Given the description of an element on the screen output the (x, y) to click on. 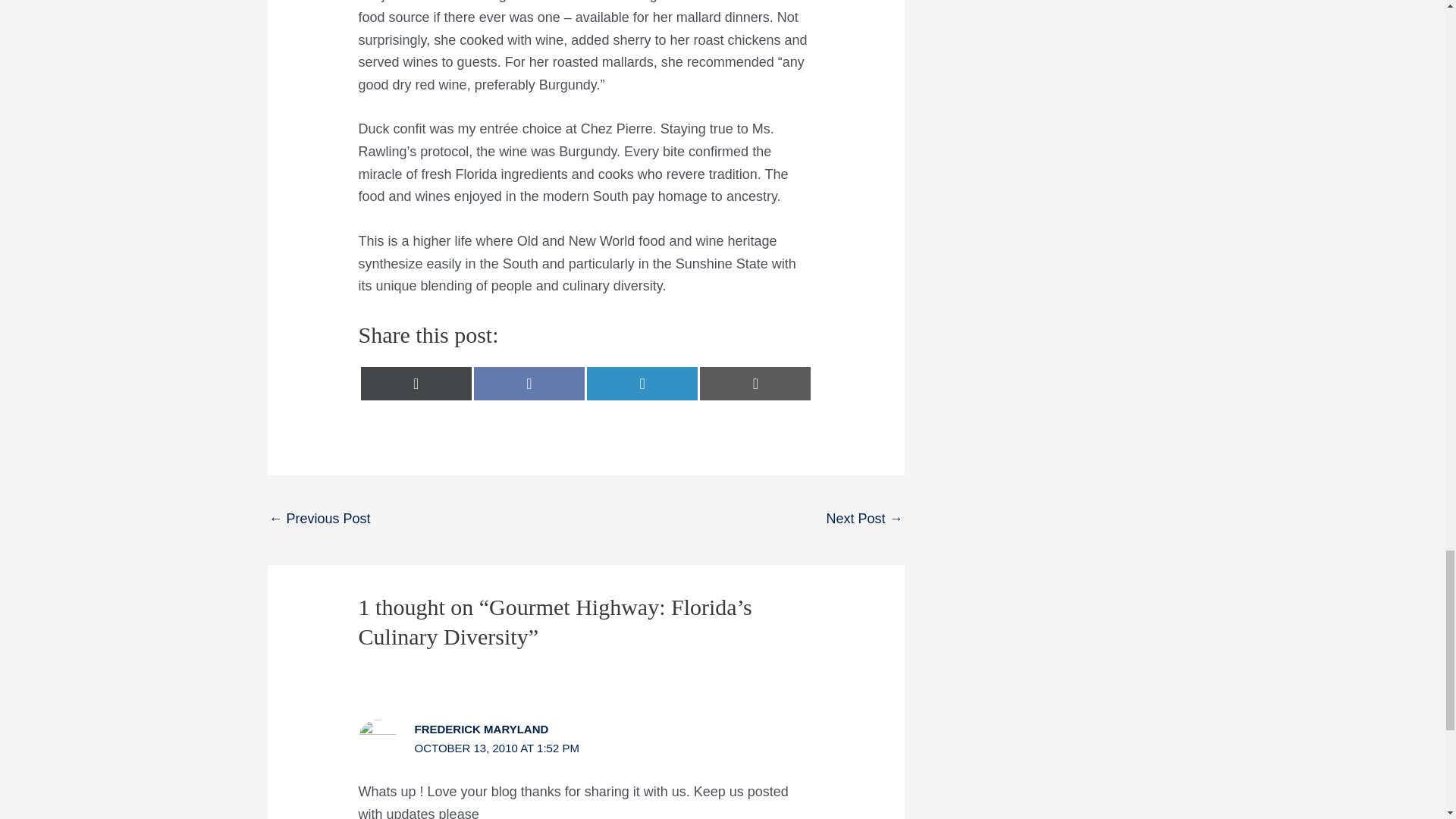
Share on Facebook (529, 383)
FREDERICK MARYLAND (481, 728)
Food Buzz: Halloumi Cheese (863, 520)
OCTOBER 13, 2010 AT 1:52 PM (496, 748)
Share on Email (755, 383)
Share on LinkedIn (641, 383)
